Given the description of an element on the screen output the (x, y) to click on. 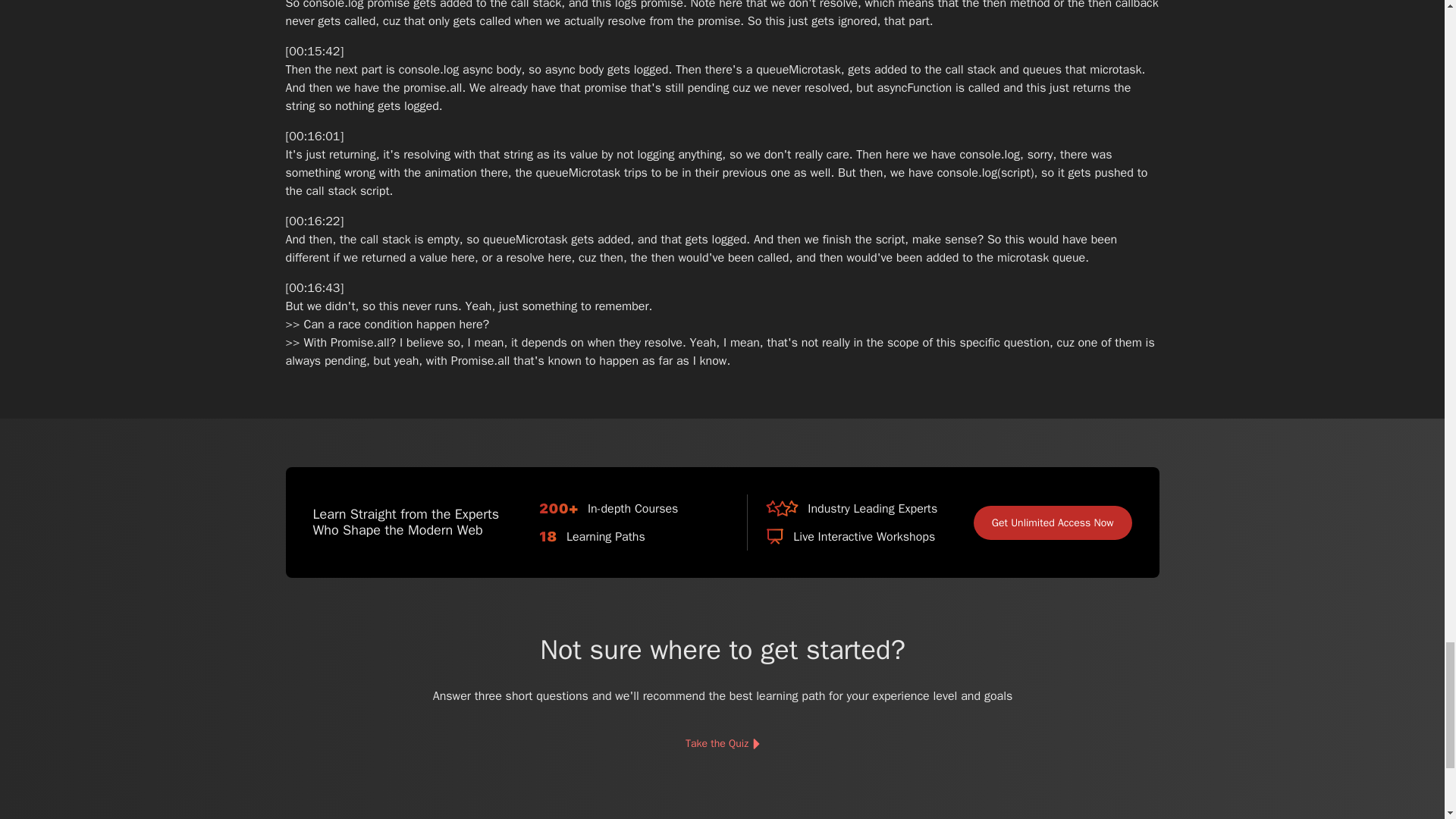
Get Unlimited Access Now (1053, 522)
Take the Quiz (720, 744)
